Given the description of an element on the screen output the (x, y) to click on. 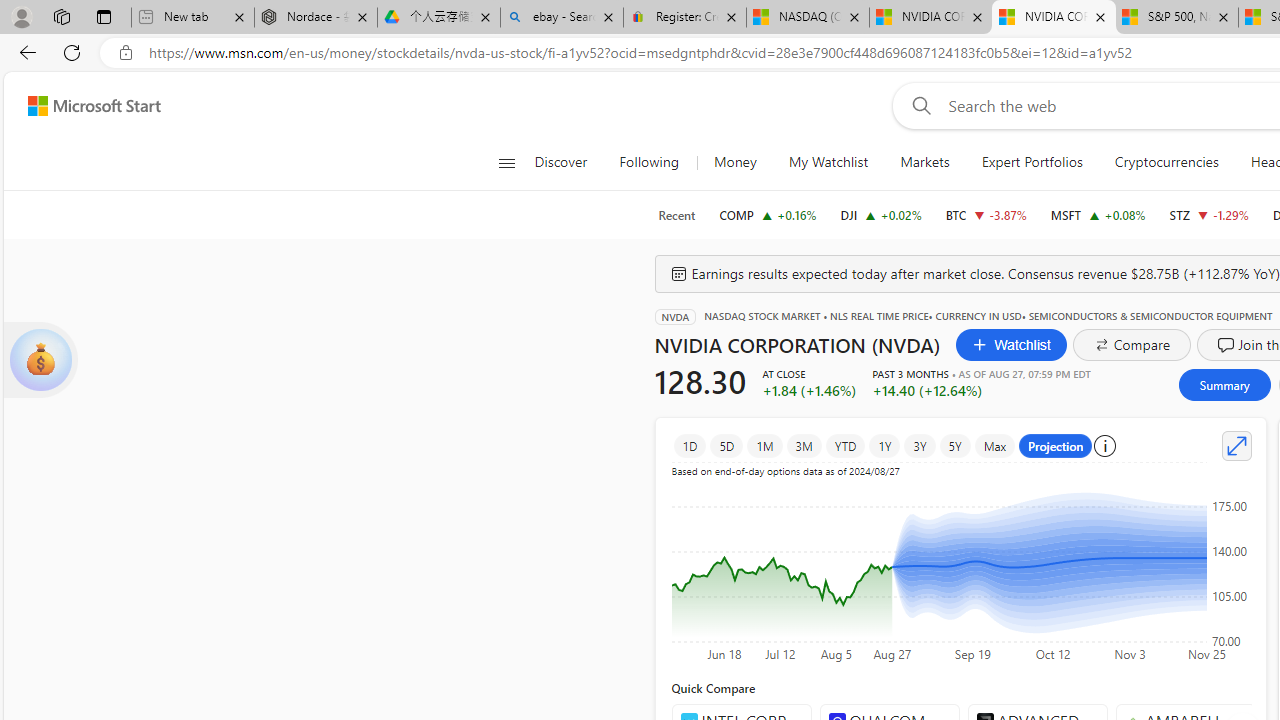
Skip to footer (82, 105)
Markets (924, 162)
MSFT MICROSOFT CORPORATION increase 413.84 +0.35 +0.08% (1098, 214)
Register: Create a personal eBay account (684, 17)
Web search (917, 105)
1D (689, 445)
COMP NASDAQ increase 17,754.82 +29.06 +0.16% (767, 214)
Summary (1224, 384)
